Given the description of an element on the screen output the (x, y) to click on. 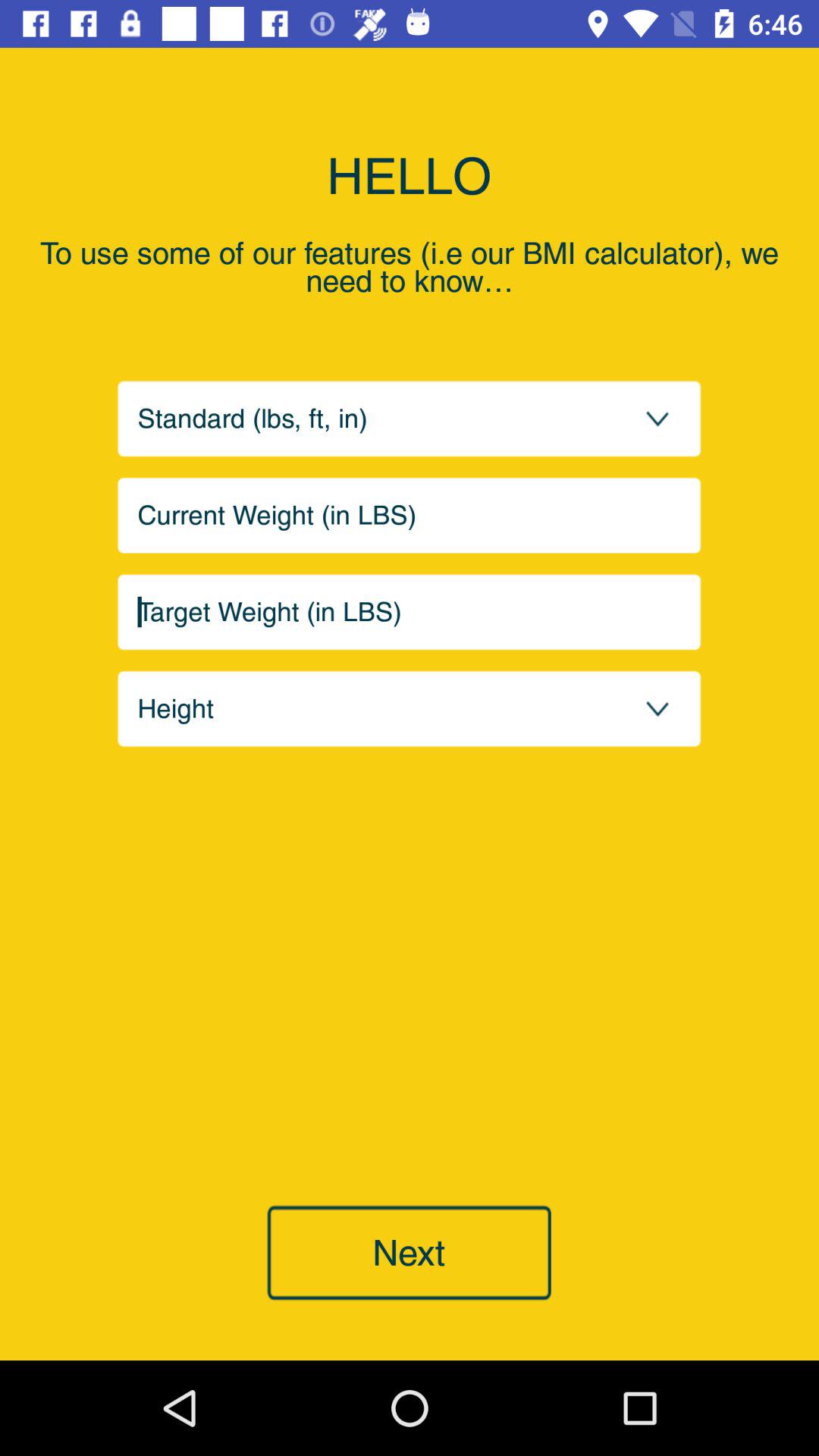
lbs (409, 515)
